Given the description of an element on the screen output the (x, y) to click on. 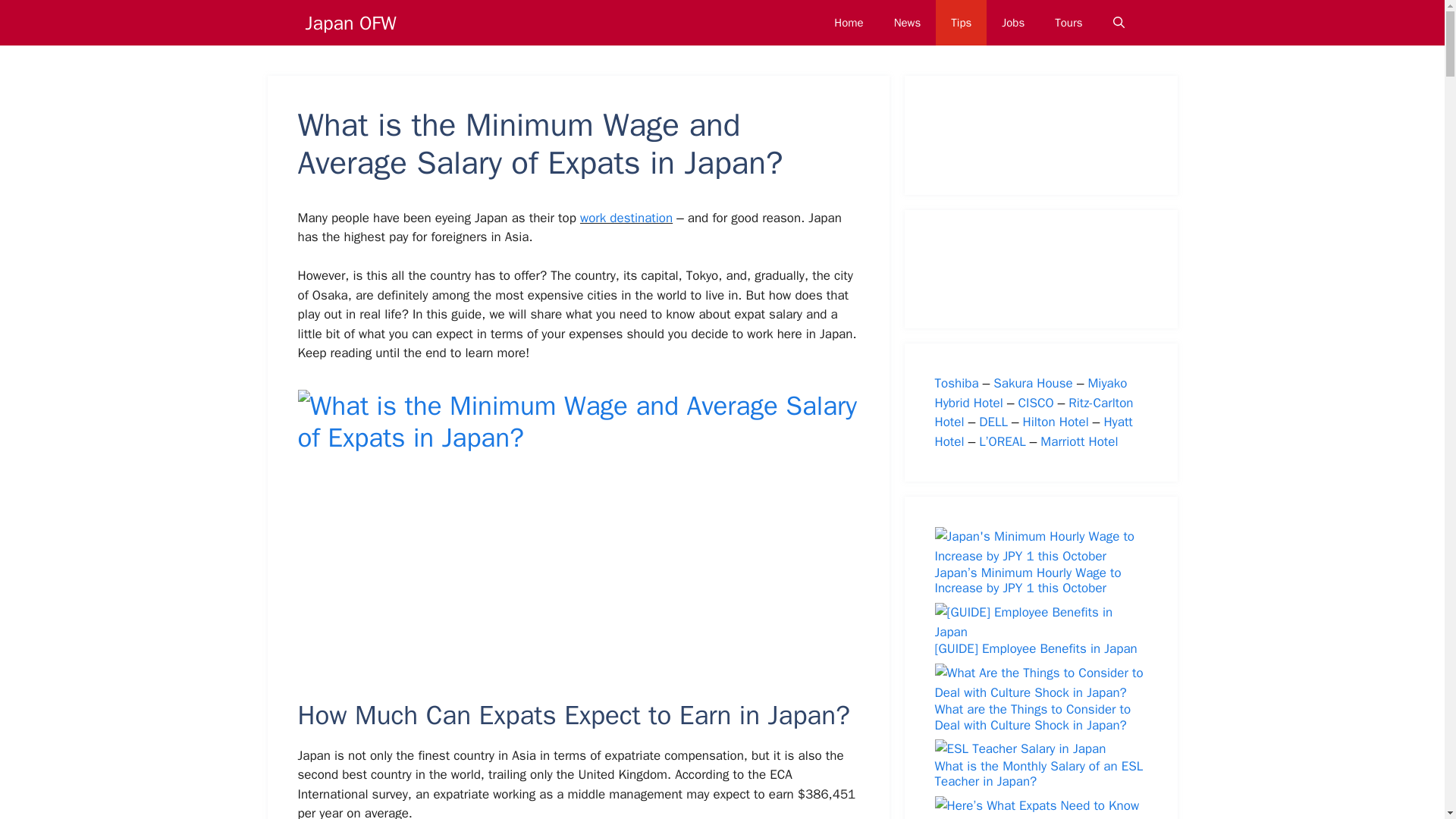
Home (847, 22)
work destination (625, 217)
Japan OFW (350, 22)
Tips (961, 22)
Toshiba (956, 383)
News (907, 22)
Tours (1068, 22)
Sakura House (1032, 383)
Miyako Hybrid Hotel (1030, 393)
Jobs (1013, 22)
